Given the description of an element on the screen output the (x, y) to click on. 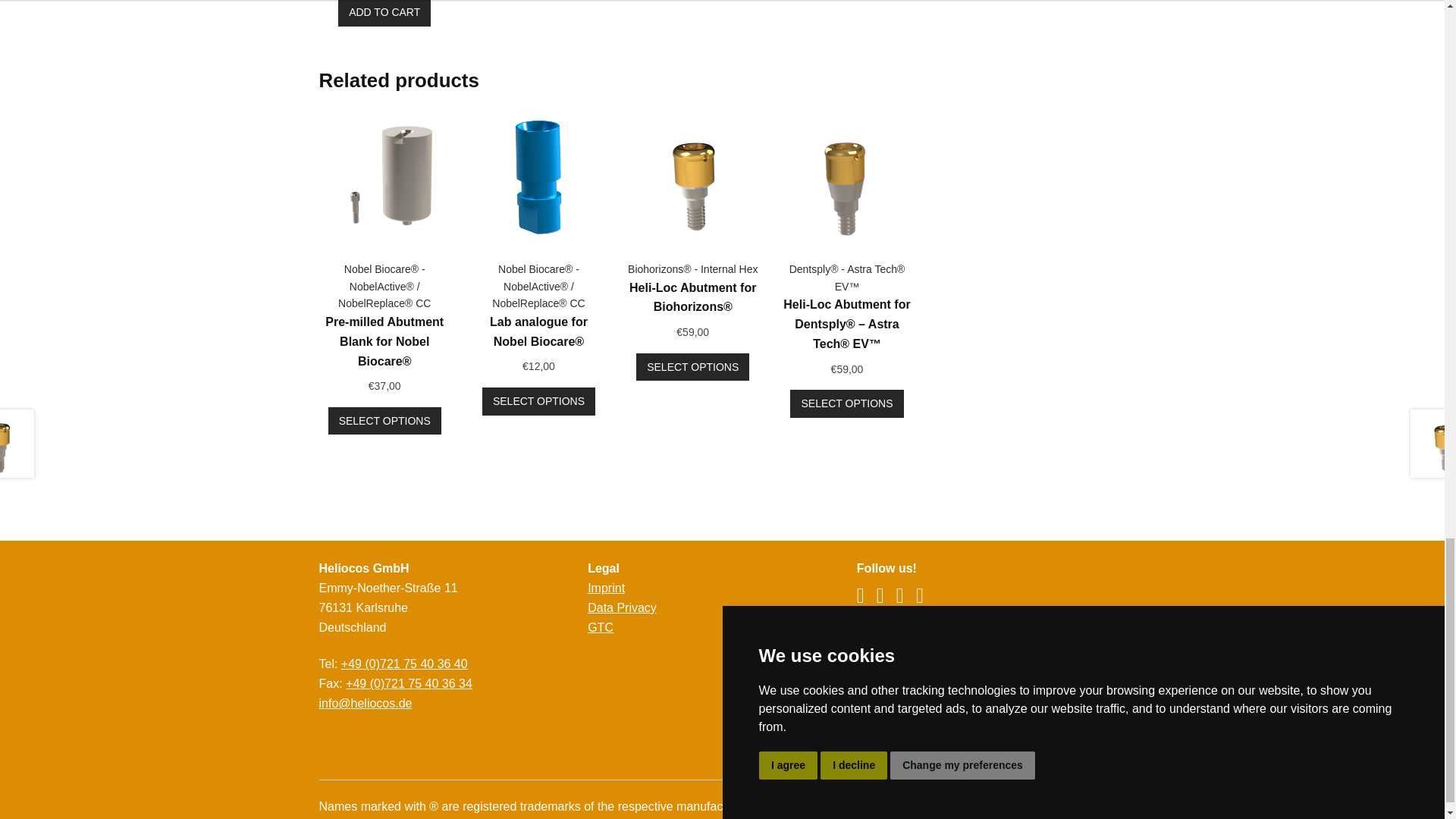
SELECT OPTIONS (846, 403)
SELECT OPTIONS (538, 401)
SELECT OPTIONS (692, 366)
SELECT OPTIONS (385, 420)
ADD TO CART (383, 13)
